Given the description of an element on the screen output the (x, y) to click on. 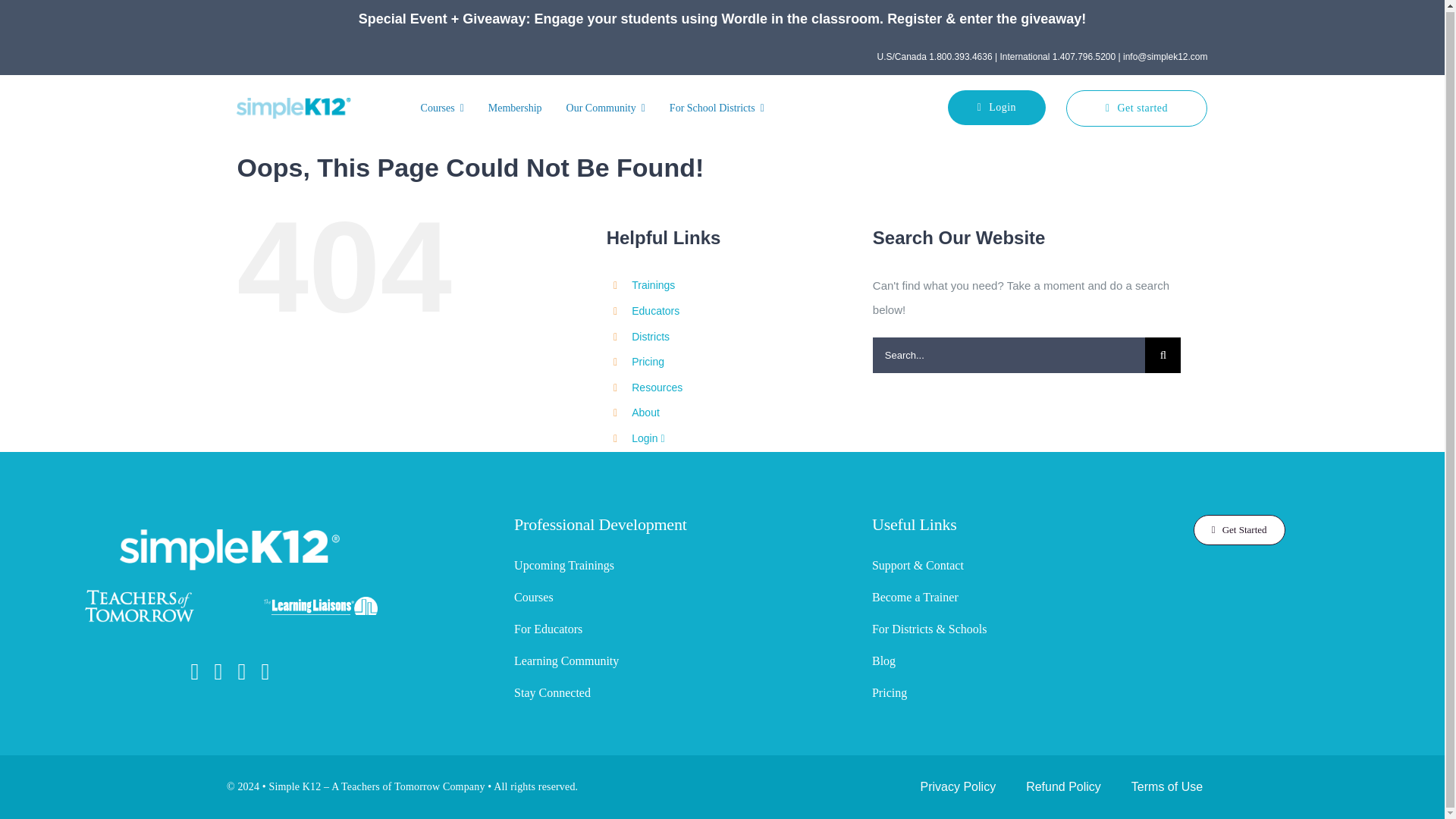
Sign In to the Community (647, 438)
For School Districts (716, 107)
Courses (442, 107)
Login (996, 107)
Our Community (605, 107)
Get started (1136, 108)
Membership (515, 107)
